Given the description of an element on the screen output the (x, y) to click on. 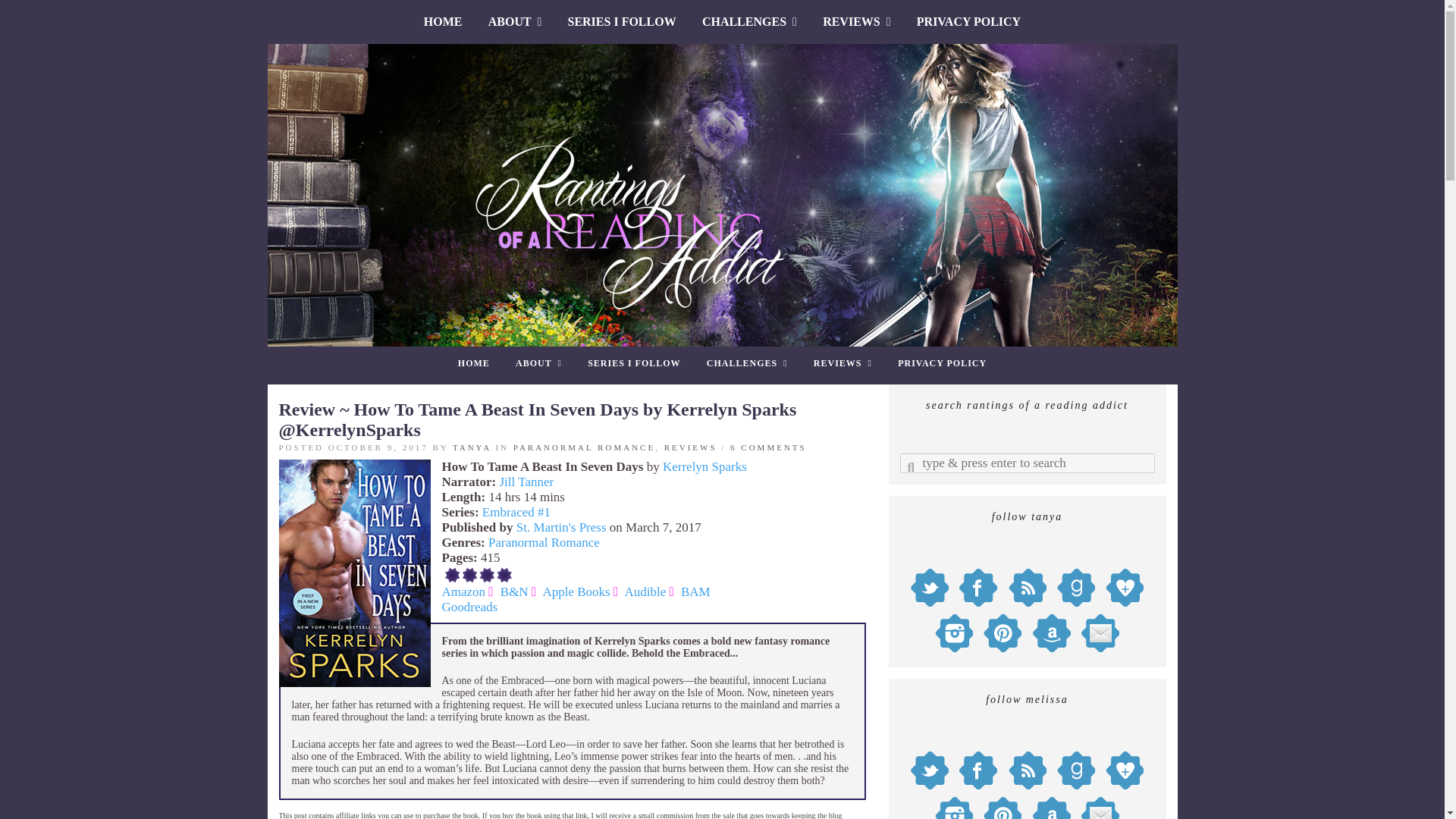
View all posts in Paranormal Romance (584, 447)
ABOUT   (538, 363)
SERIES I FOLLOW (633, 363)
HOME (443, 22)
PRIVACY POLICY (968, 22)
View all posts in Reviews (690, 447)
CHALLENGES   (749, 22)
CHALLENGES   (747, 363)
HOME (473, 363)
REVIEWS   (855, 22)
REVIEWS   (842, 363)
ABOUT   (515, 22)
SERIES I FOLLOW (621, 22)
